Given the description of an element on the screen output the (x, y) to click on. 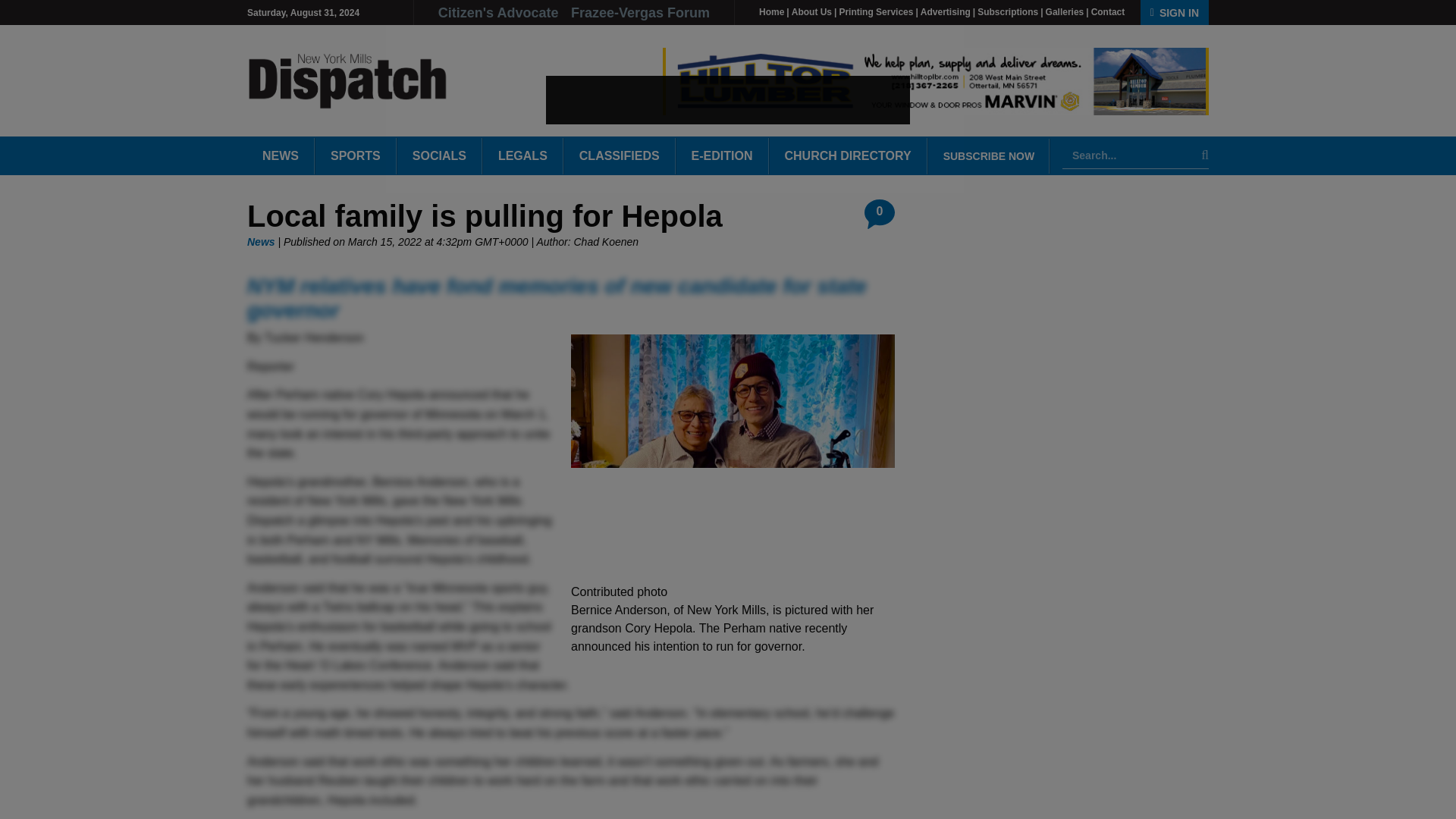
News (261, 241)
Frazee-Vergas Forum (640, 11)
CLASSIFIEDS (619, 156)
LEGALS (522, 156)
Galleries (1064, 11)
E-EDITION (722, 156)
Citizen's Advocate (500, 11)
NEWS (280, 156)
About Us (811, 11)
SOCIALS (439, 156)
